Given the description of an element on the screen output the (x, y) to click on. 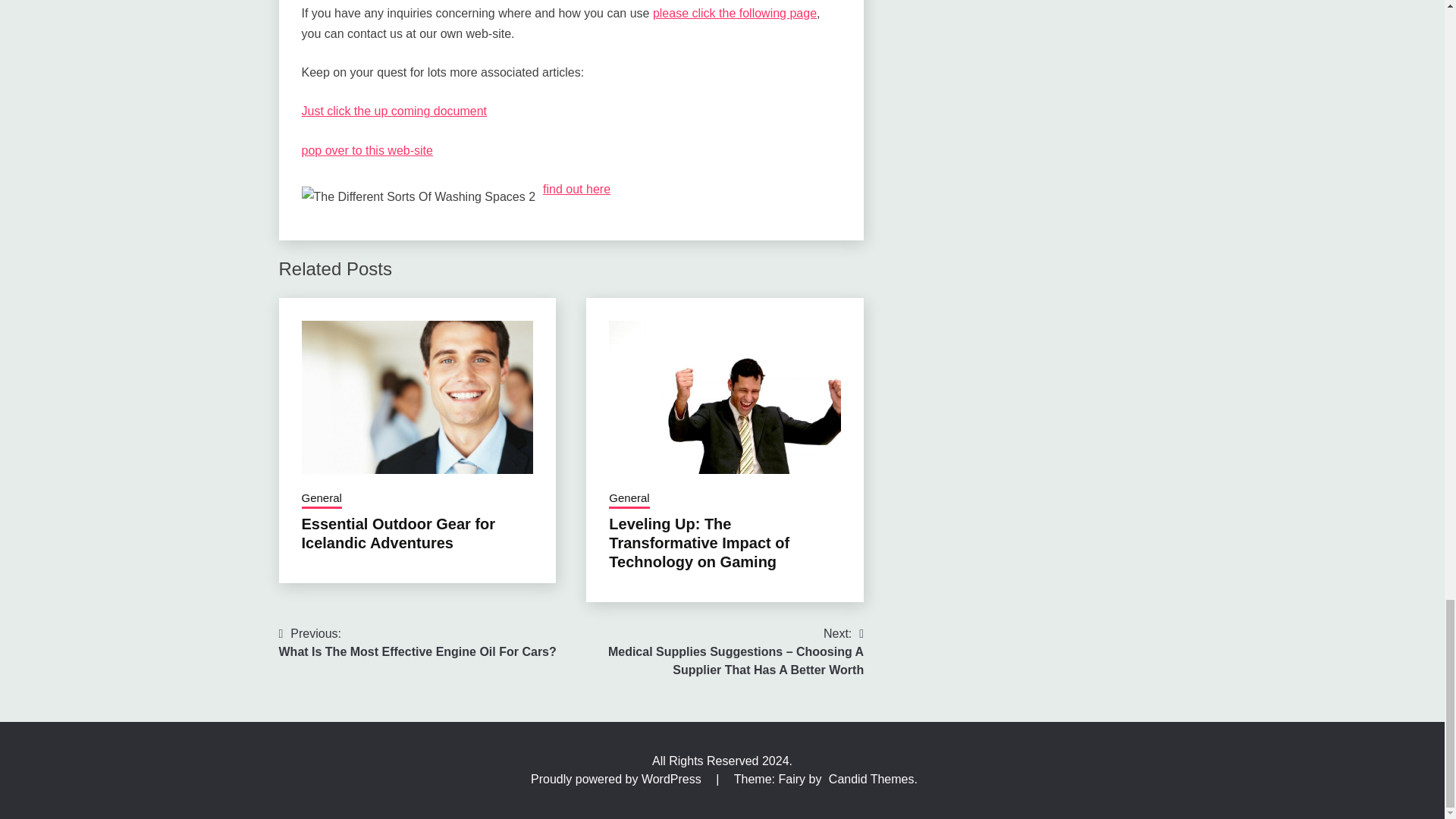
Essential Outdoor Gear for Icelandic Adventures (398, 533)
find out here (576, 188)
General (321, 499)
General (628, 499)
pop over to this web-site (366, 150)
please click the following page (734, 12)
Just click the up coming document (417, 642)
